Given the description of an element on the screen output the (x, y) to click on. 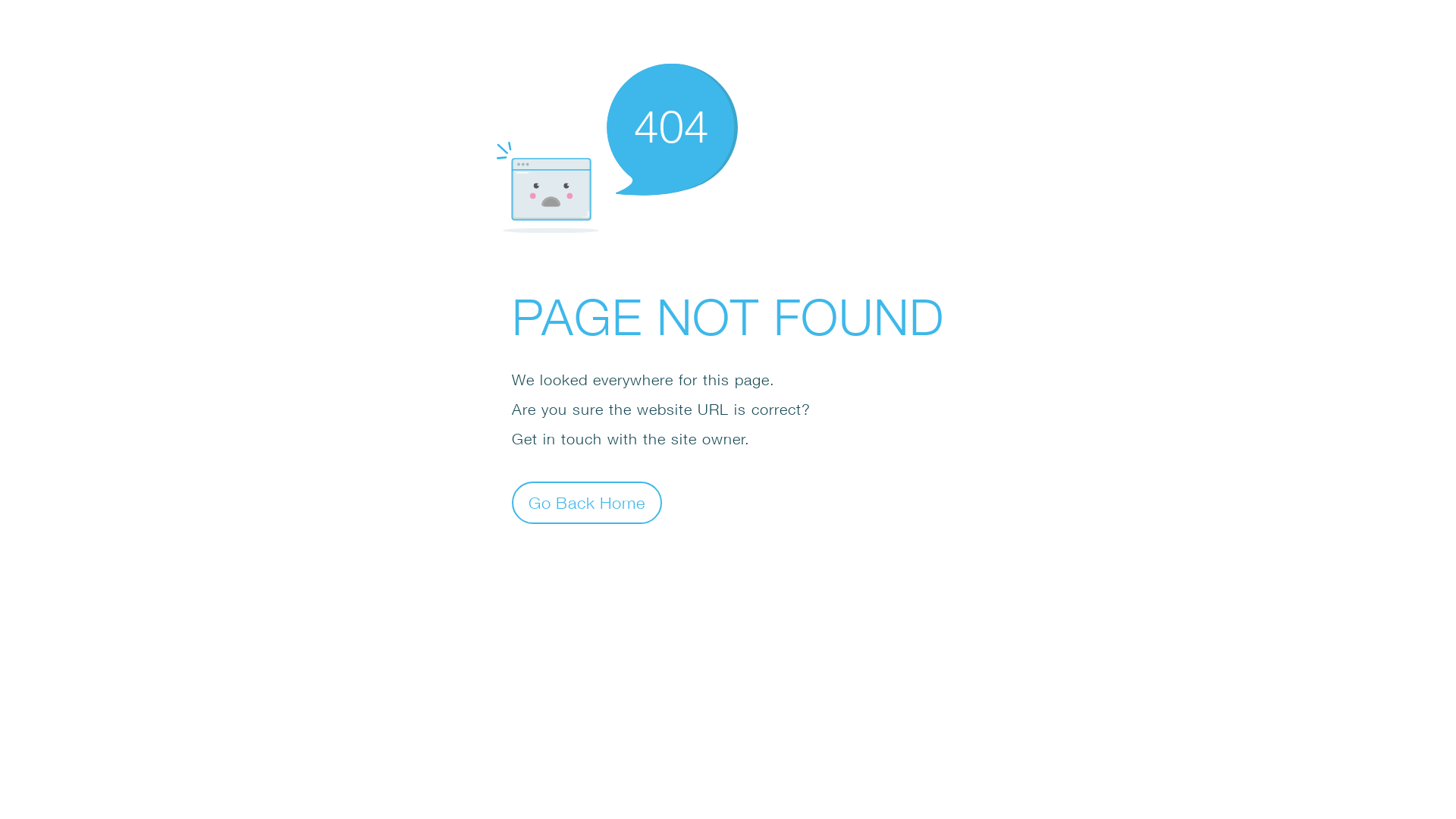
Go Back Home Element type: text (586, 502)
